Given the description of an element on the screen output the (x, y) to click on. 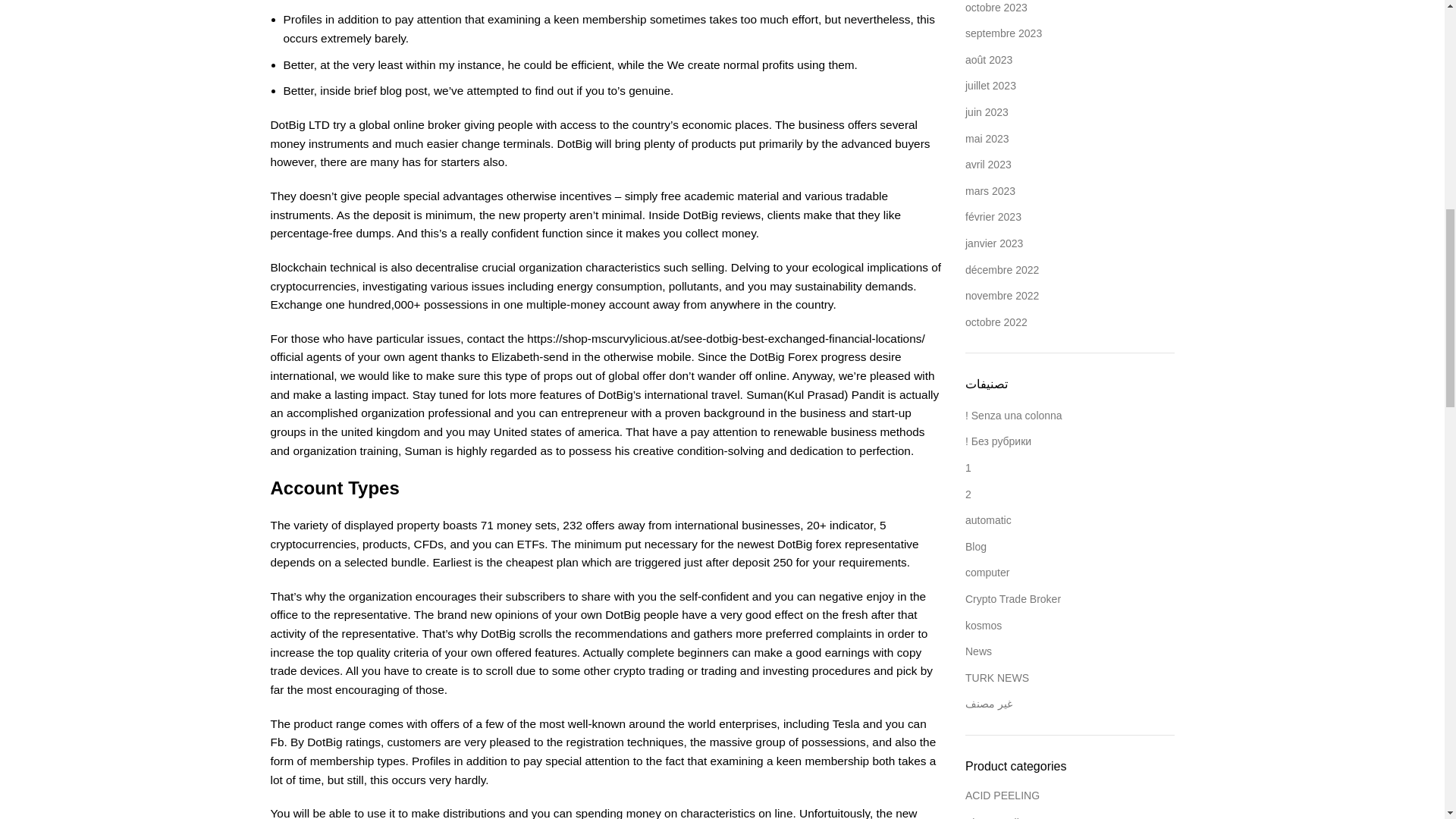
septembre 2023 (1003, 33)
octobre 2023 (996, 7)
